Given the description of an element on the screen output the (x, y) to click on. 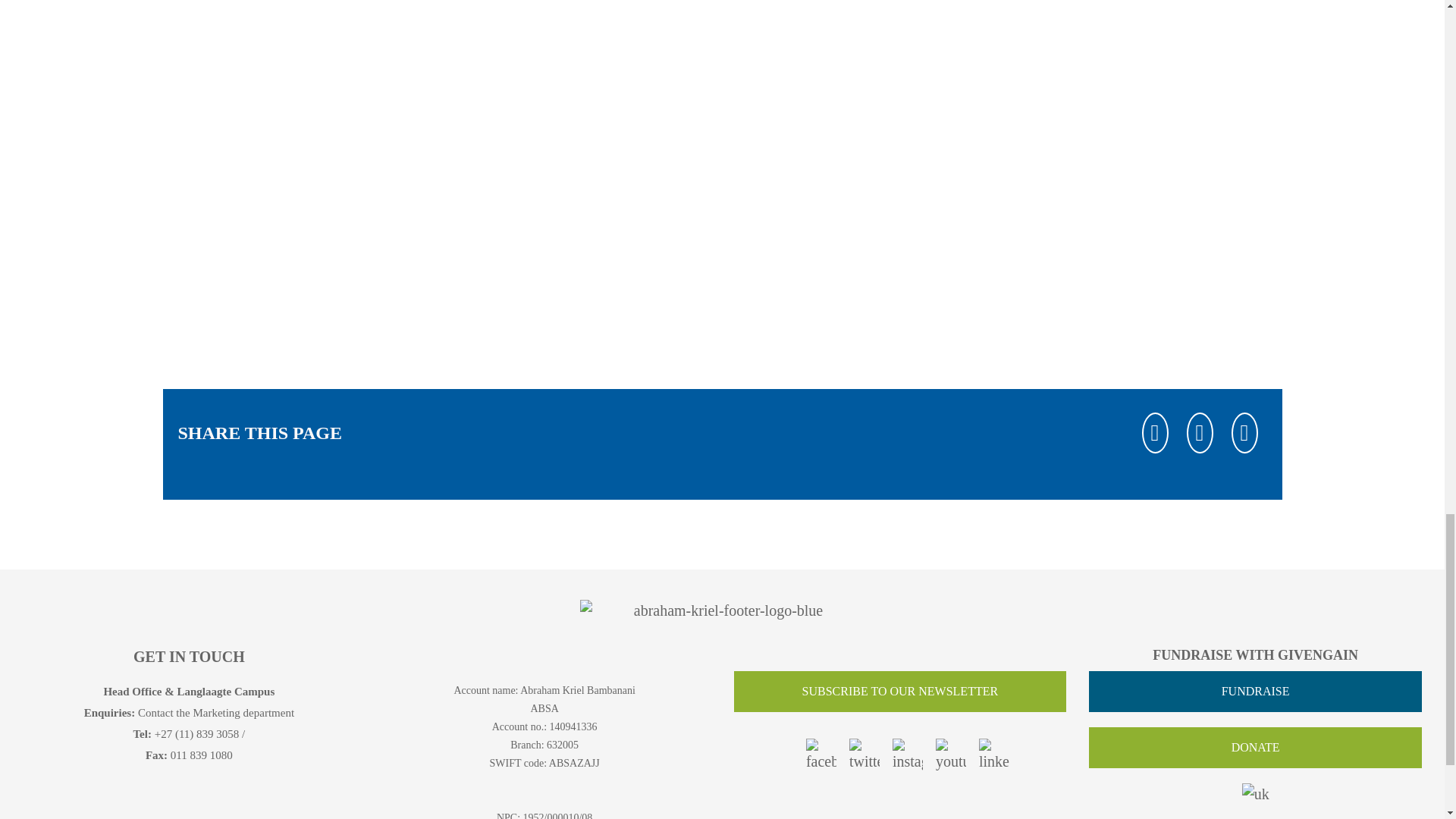
Youtube (951, 755)
Facebook (1154, 432)
Twitter (863, 755)
Facebook (820, 755)
Twitter (1200, 432)
Click to Call Us (197, 734)
LinkedIn (1244, 432)
Instgram (907, 755)
